Given the description of an element on the screen output the (x, y) to click on. 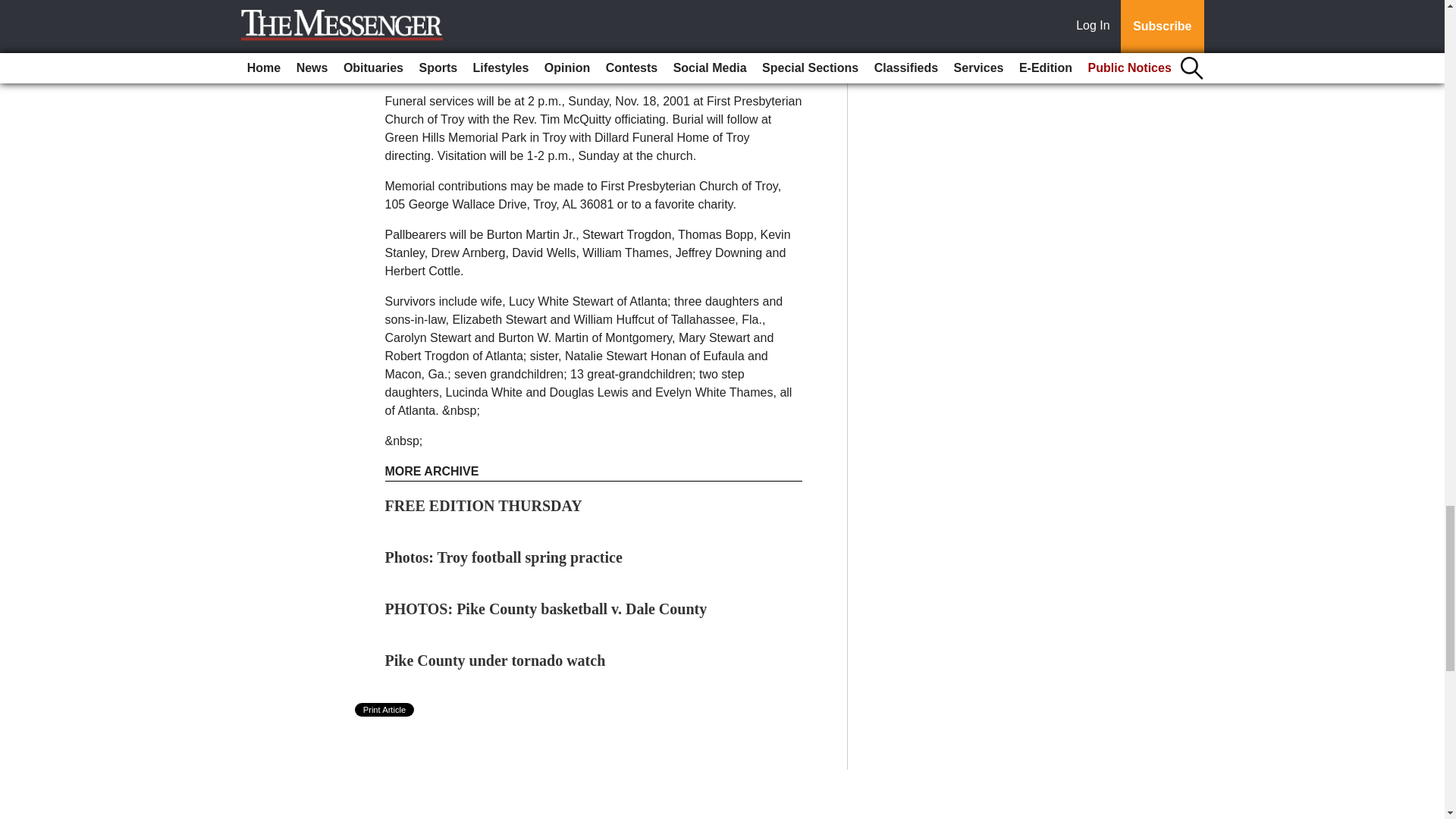
PHOTOS: Pike County basketball v. Dale County (546, 608)
FREE EDITION THURSDAY (483, 505)
Photos: Troy football spring practice (504, 556)
Pike County under tornado watch (495, 660)
